Given the description of an element on the screen output the (x, y) to click on. 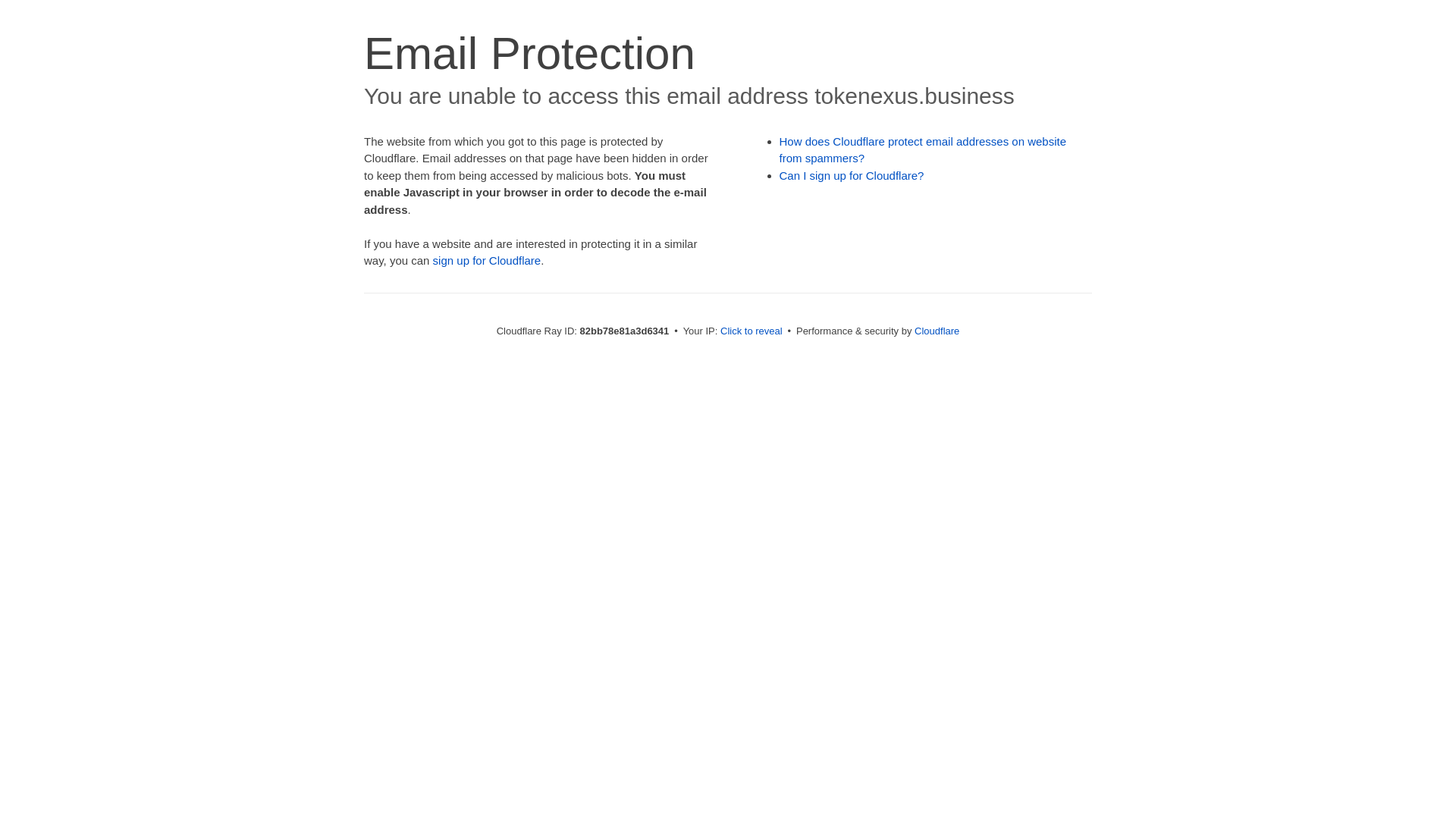
Click to reveal Element type: text (751, 330)
Cloudflare Element type: text (936, 330)
sign up for Cloudflare Element type: text (487, 260)
Can I sign up for Cloudflare? Element type: text (851, 175)
